Given the description of an element on the screen output the (x, y) to click on. 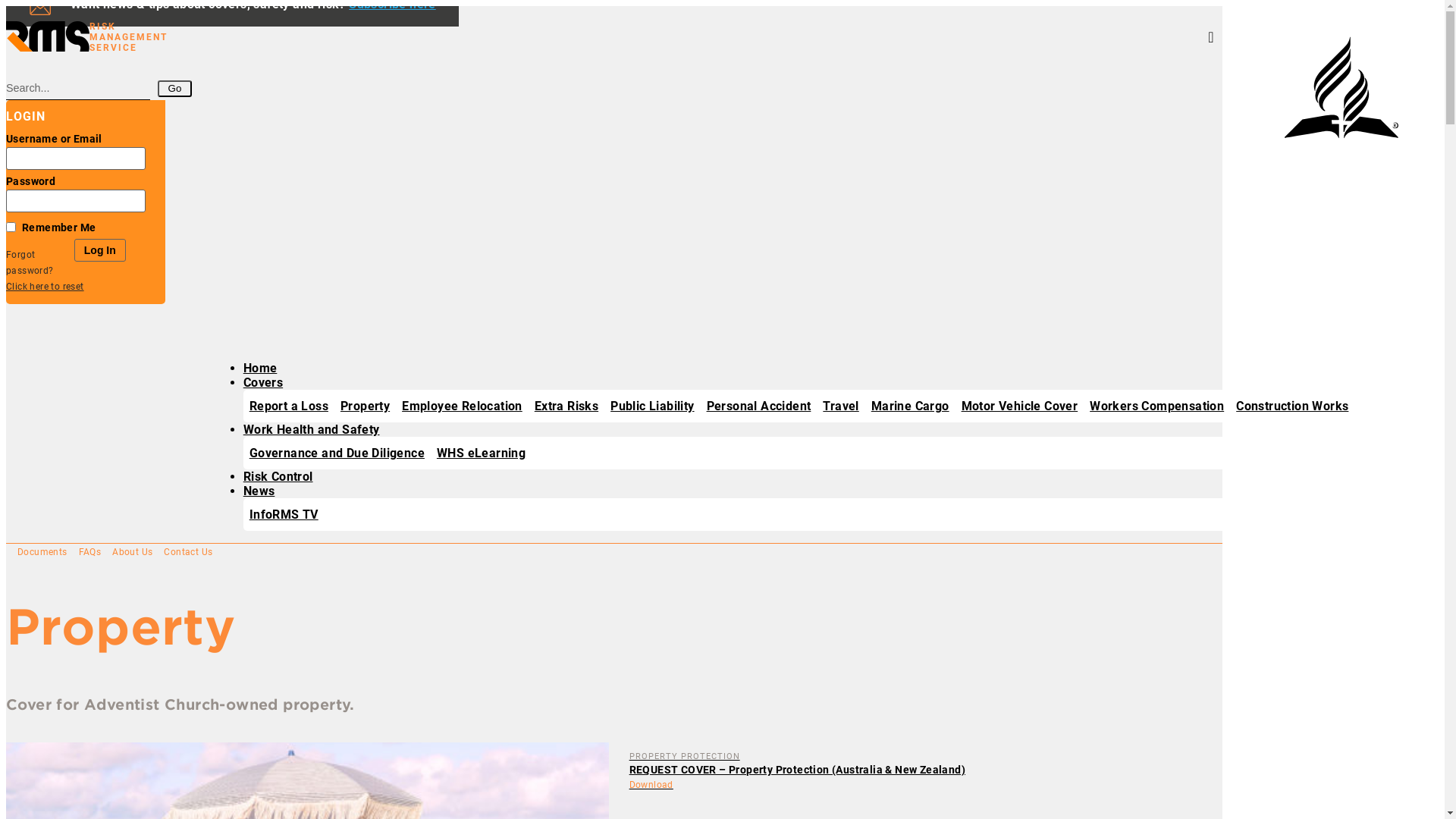
WHS eLearning Element type: text (480, 452)
Report a Loss Element type: text (288, 405)
Travel Element type: text (840, 405)
FAQs Element type: text (89, 551)
Governance and Due Diligence Element type: text (336, 452)
Contact Us Element type: text (187, 551)
Personal Accident Element type: text (758, 405)
About Us Element type: text (132, 551)
Marine Cargo Element type: text (910, 405)
Public Liability Element type: text (651, 405)
Extra Risks Element type: text (566, 405)
InfoRMS TV Element type: text (283, 514)
Covers Element type: text (262, 382)
Home Element type: text (260, 367)
Log In Element type: text (99, 249)
Go Element type: text (174, 88)
News Element type: text (259, 490)
Risk Control Element type: text (278, 476)
Work Health and Safety Element type: text (311, 429)
Employee Relocation Element type: text (461, 405)
Construction Works Element type: text (1292, 405)
Documents Element type: text (42, 551)
RISK
MANAGEMENT
SERVICE Element type: text (86, 37)
Property Element type: text (364, 405)
Motor Vehicle Cover Element type: text (1019, 405)
Workers Compensation Element type: text (1156, 405)
Click here to reset Element type: text (45, 286)
